Given the description of an element on the screen output the (x, y) to click on. 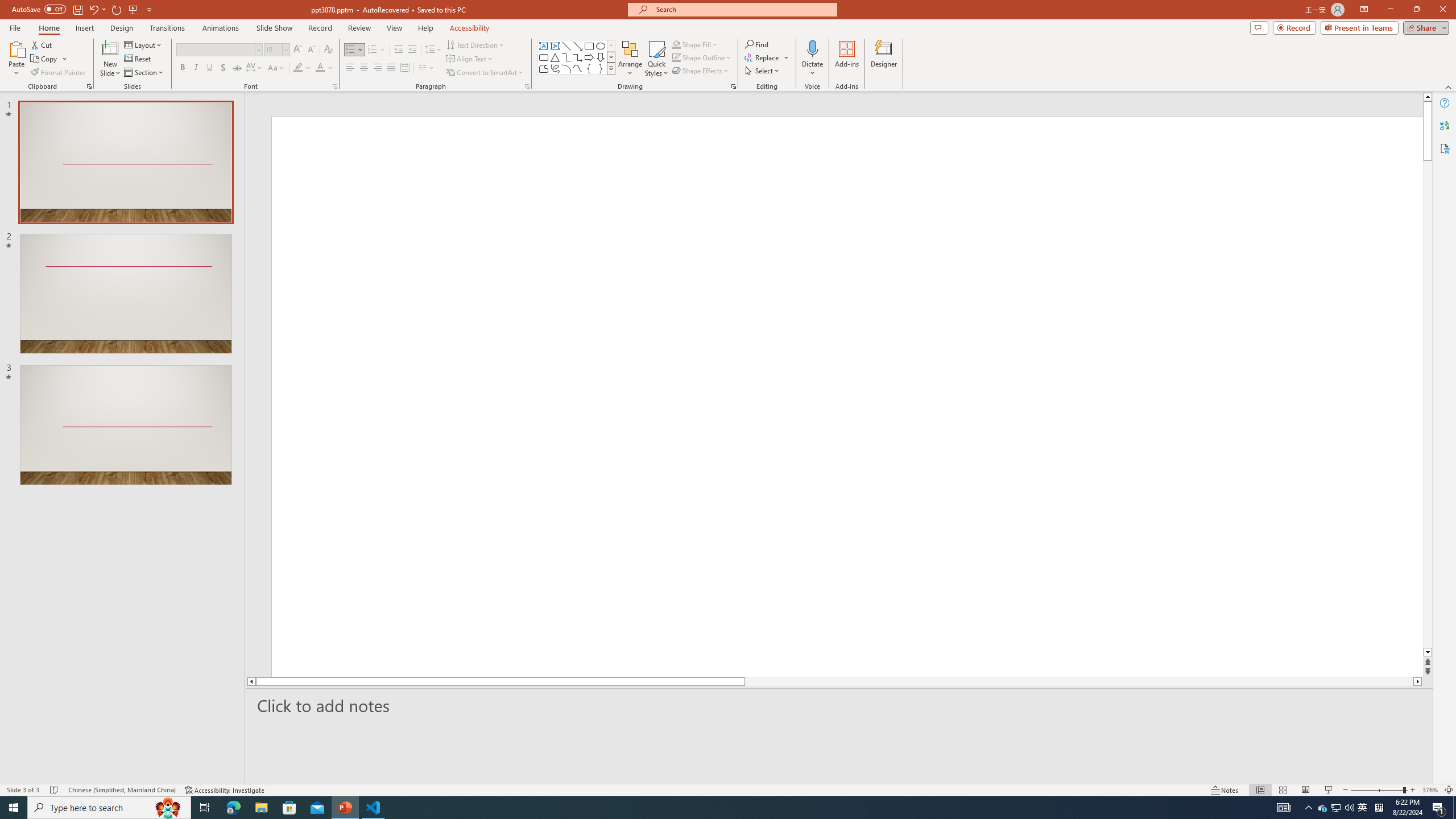
Add-in 17 (773, 450)
